Given the description of an element on the screen output the (x, y) to click on. 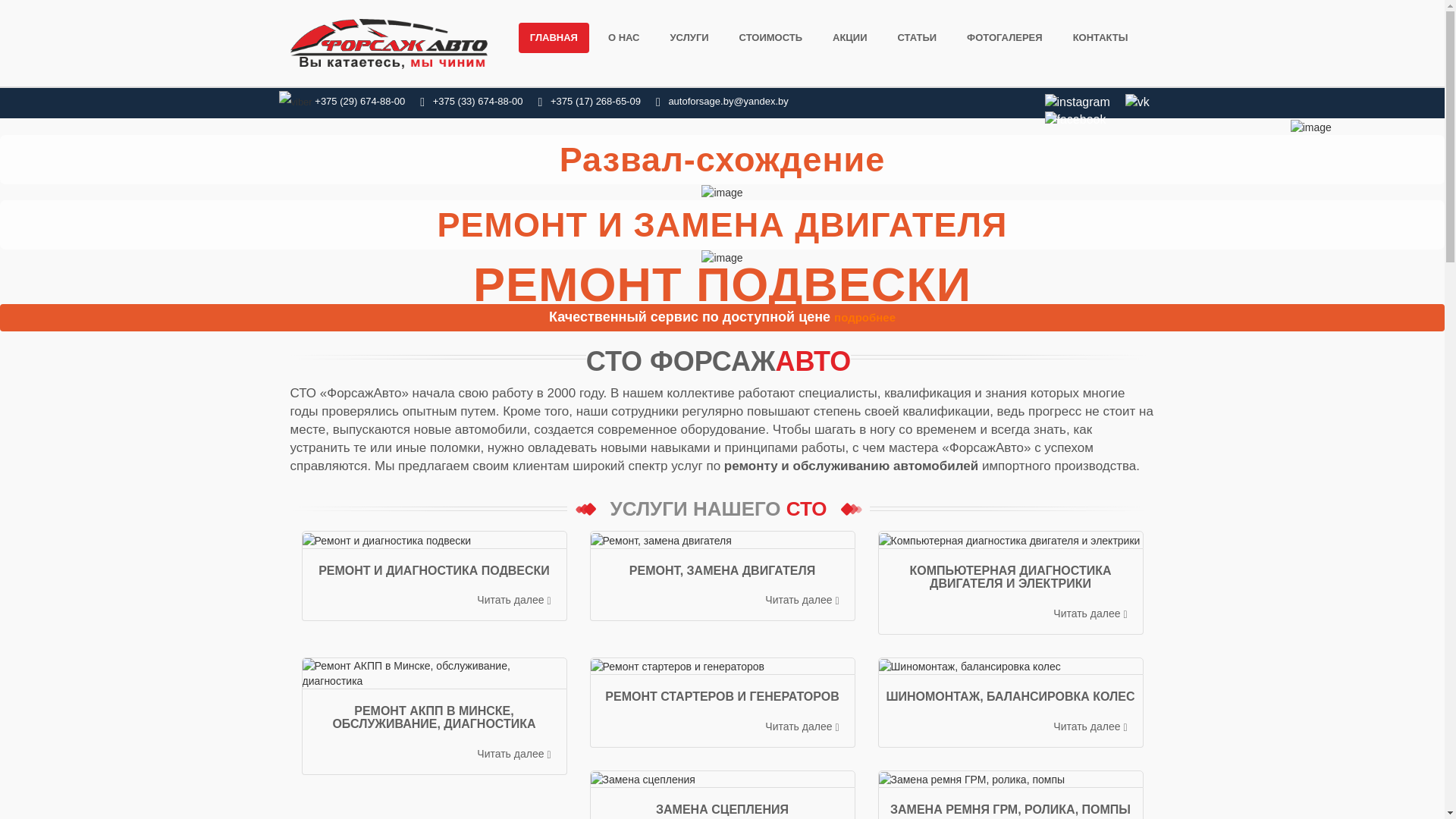
+375 (29) 674-88-00 Element type: text (358, 100)
+375 (17) 268-65-09 Element type: text (589, 100)
+375 (33) 674-88-00 Element type: text (471, 100)
forsazhauto.by Element type: hover (387, 43)
autoforsage.by@yandex.by Element type: text (727, 100)
